Given the description of an element on the screen output the (x, y) to click on. 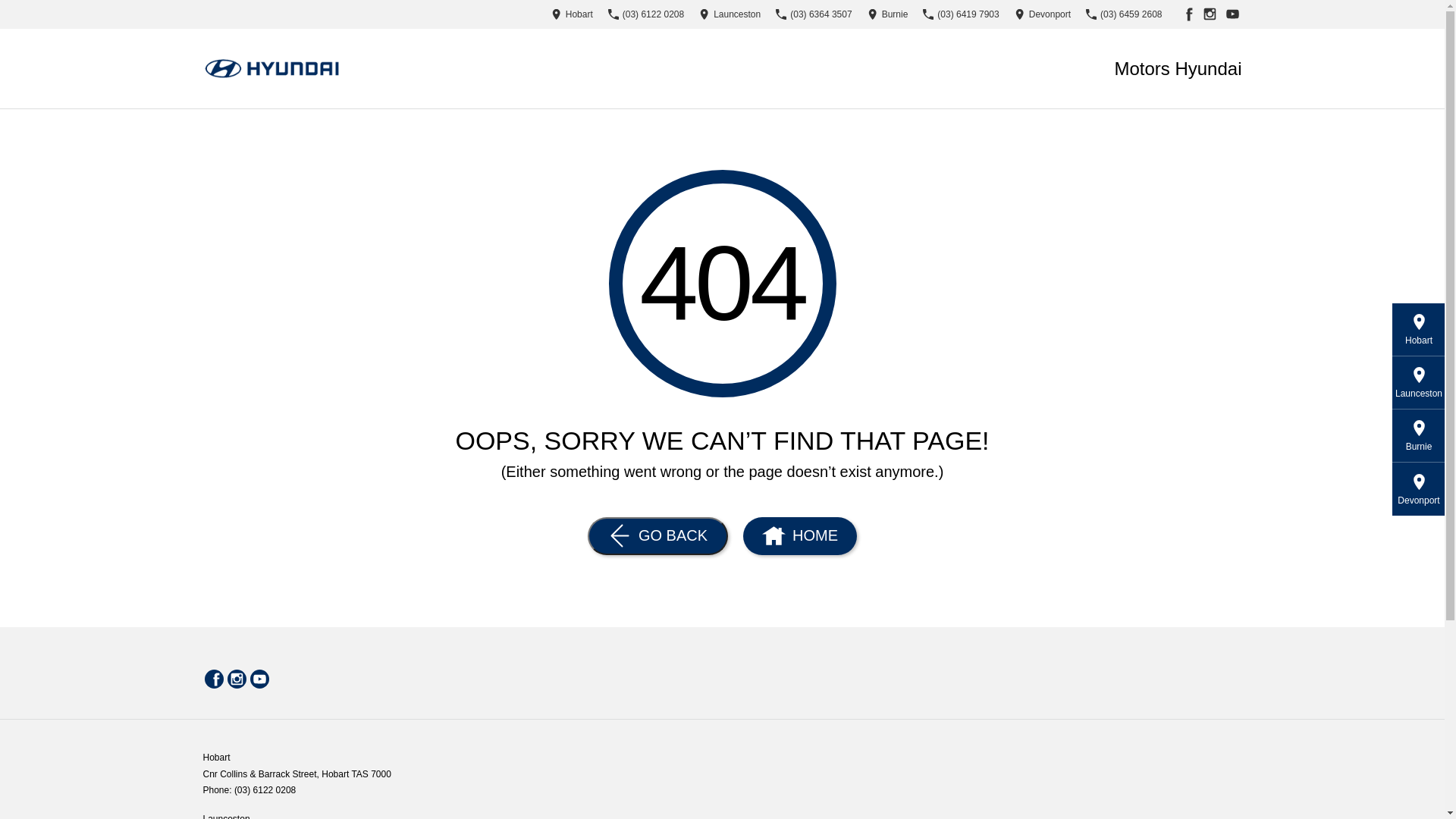
(03) 6122 0208 Element type: text (264, 789)
(03) 6122 0208 Element type: text (646, 13)
(03) 6419 7903 Element type: text (960, 13)
GO BACK Element type: text (657, 536)
Hobart Element type: text (572, 13)
Burnie Element type: text (887, 13)
Devonport Element type: text (1042, 13)
(03) 6459 2608 Element type: text (1123, 13)
(03) 6364 3507 Element type: text (813, 13)
Launceston Element type: text (729, 13)
HOME Element type: text (799, 536)
Motors Hyundai Element type: text (1177, 67)
